Given the description of an element on the screen output the (x, y) to click on. 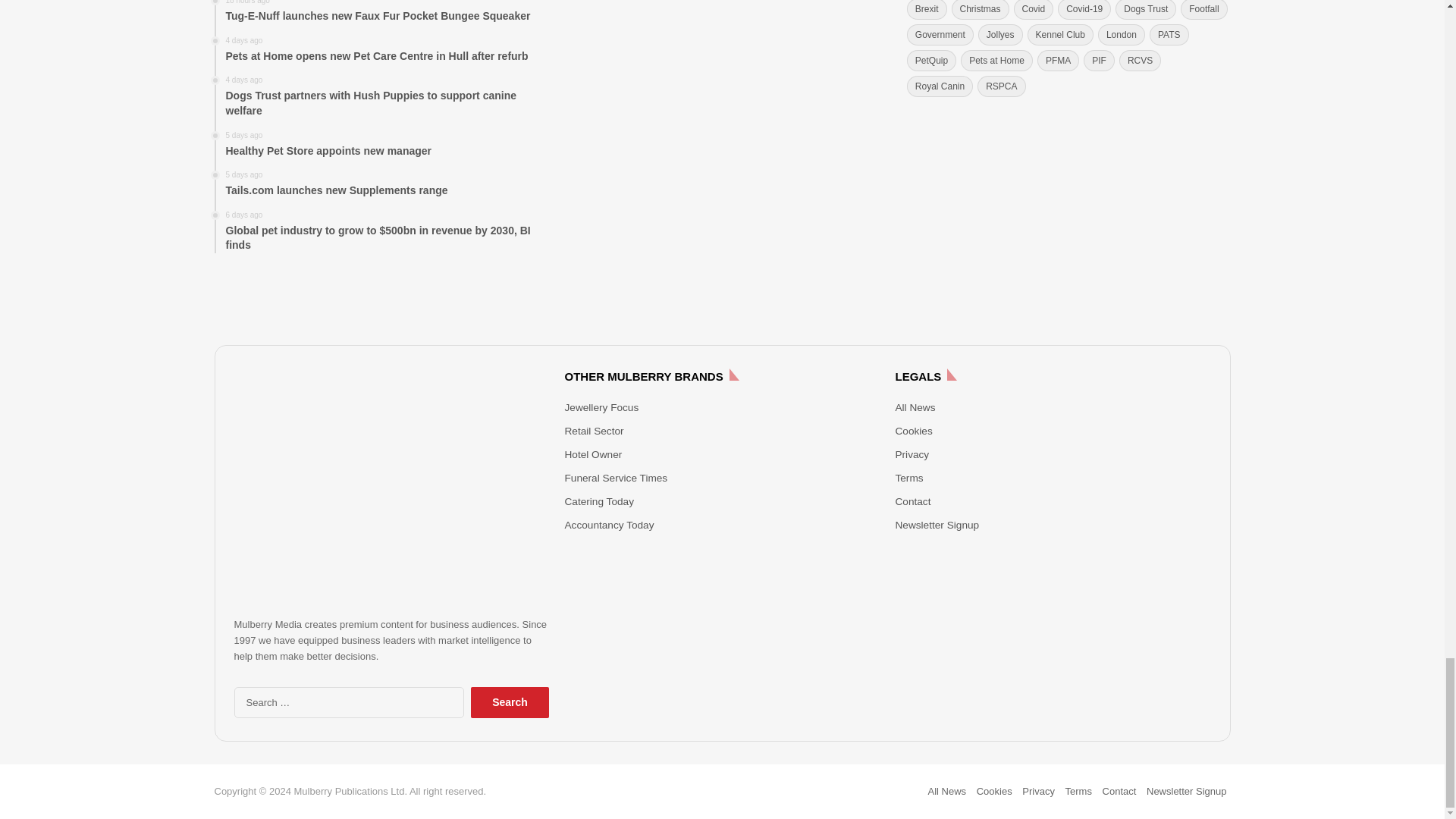
Search (509, 702)
Search (509, 702)
